Given the description of an element on the screen output the (x, y) to click on. 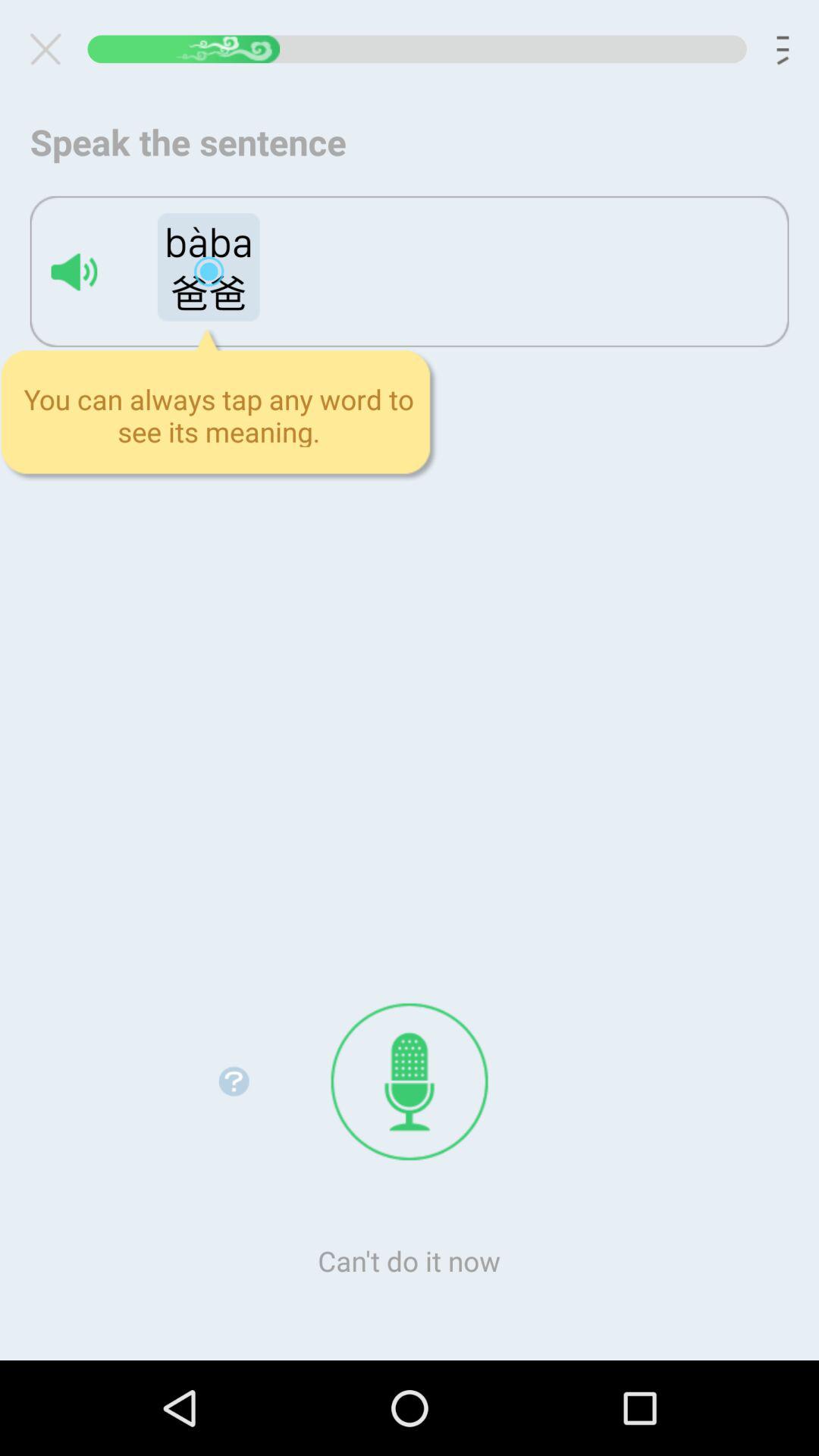
spell loudly (74, 271)
